Given the description of an element on the screen output the (x, y) to click on. 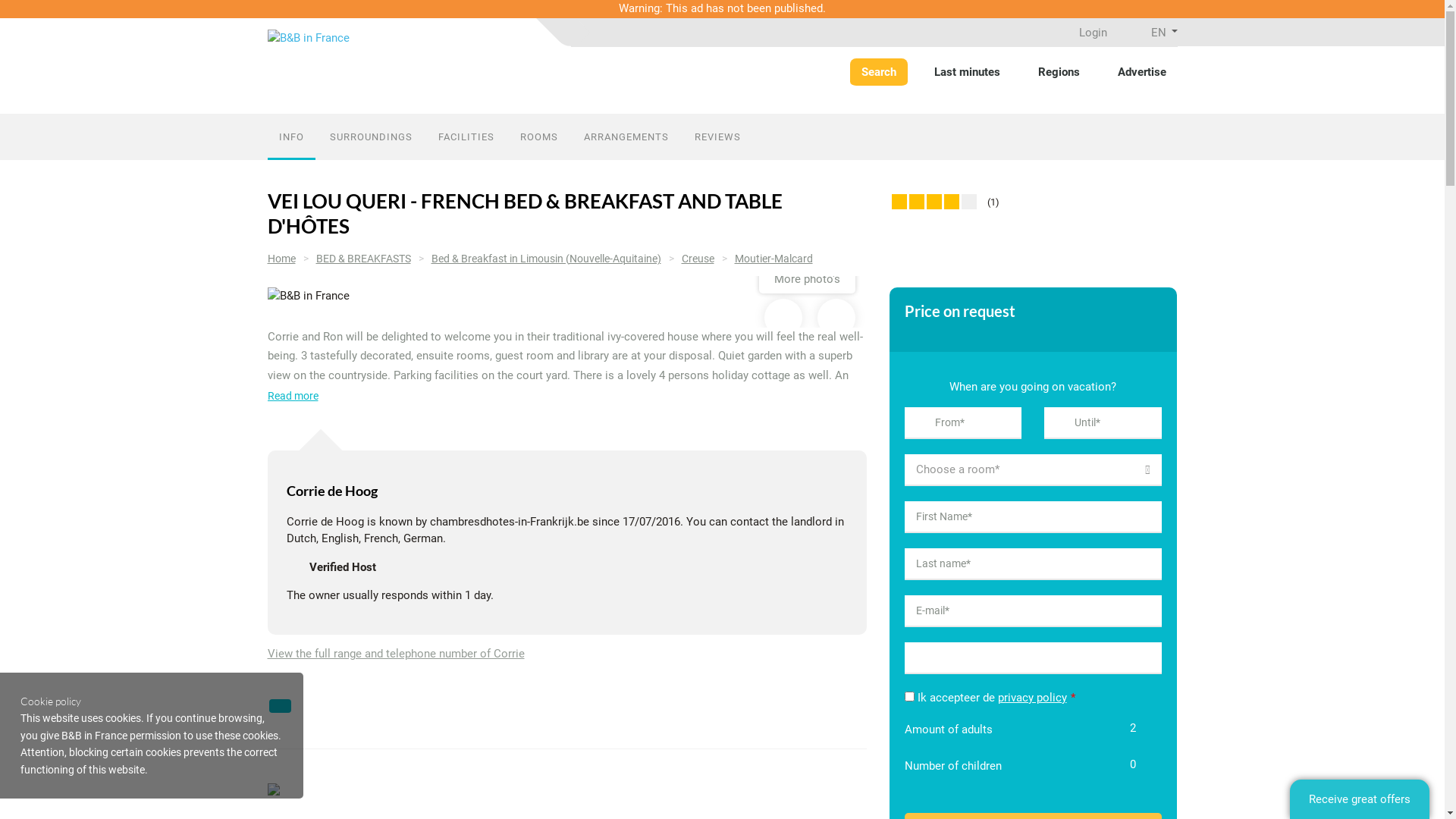
B&B in France Element type: hover (307, 38)
Search Element type: text (877, 72)
Creuse Element type: text (696, 258)
BED & BREAKFASTS Element type: text (362, 258)
SURROUNDINGS Element type: text (370, 136)
ROOMS Element type: text (538, 136)
View the full range and telephone number of Corrie Element type: text (400, 653)
FACILITIES Element type: text (465, 136)
Last minutes Element type: text (966, 72)
Home Element type: text (280, 258)
Moutier-Malcard Element type: text (773, 258)
B&B in France Element type: hover (566, 295)
Login Element type: text (1083, 32)
Advertise Element type: text (1140, 72)
Regions Element type: text (1058, 72)
REVIEWS Element type: text (716, 136)
More photo's Element type: text (806, 279)
ARRANGEMENTS Element type: text (625, 136)
INFO Element type: text (290, 136)
Bed & Breakfast in Limousin (Nouvelle-Aquitaine) Element type: text (545, 258)
privacy policy Element type: text (1031, 697)
